Given the description of an element on the screen output the (x, y) to click on. 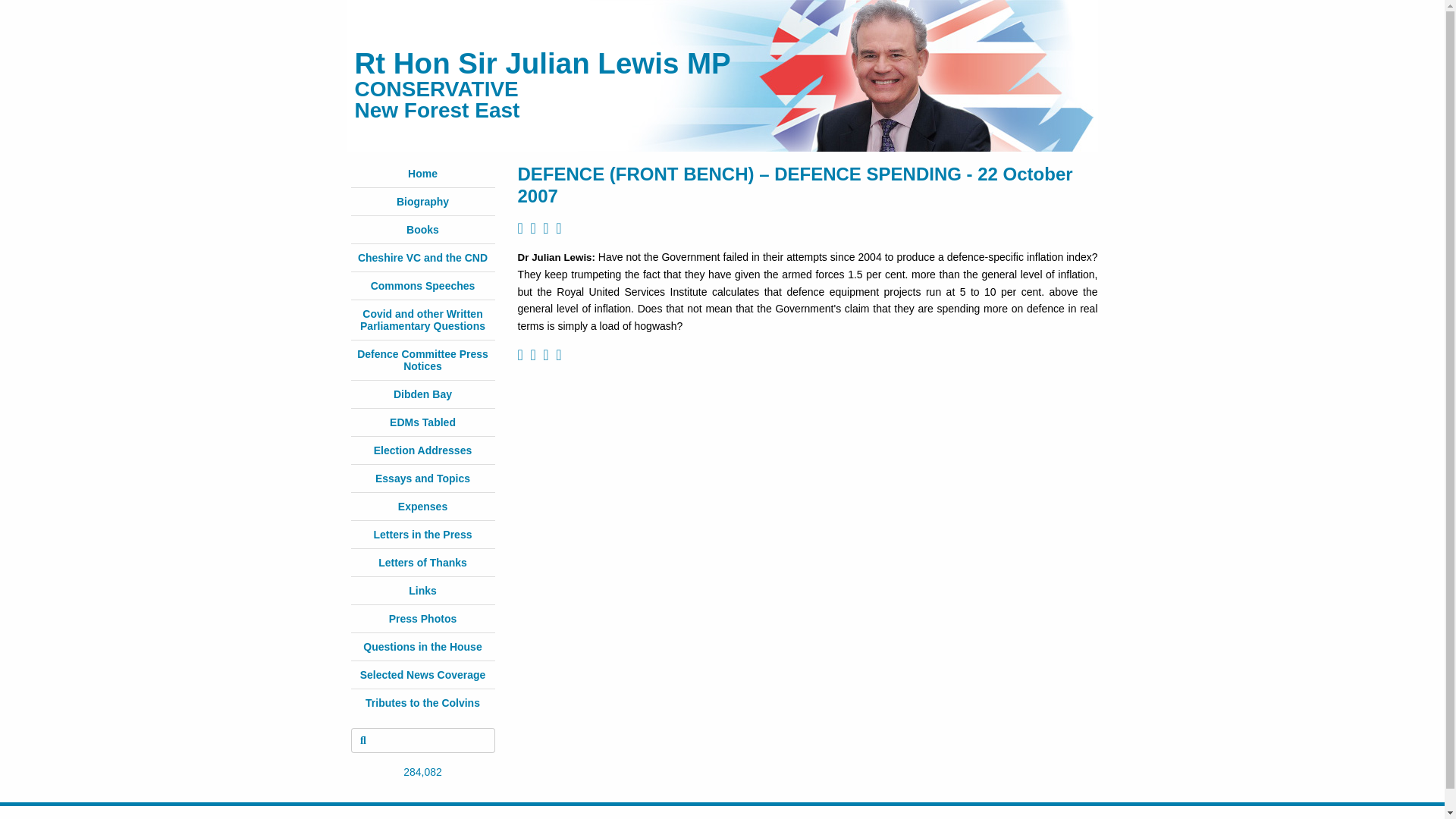
Commons Speeches (423, 285)
Books (422, 229)
EDMs Tabled (422, 422)
Press Photos (422, 618)
Expenses (421, 506)
Tributes to the Colvins (422, 702)
Letters of Thanks (422, 562)
Letters in the Press (422, 534)
Questions in the House (421, 646)
Cheshire VC and the CND (422, 257)
